Given the description of an element on the screen output the (x, y) to click on. 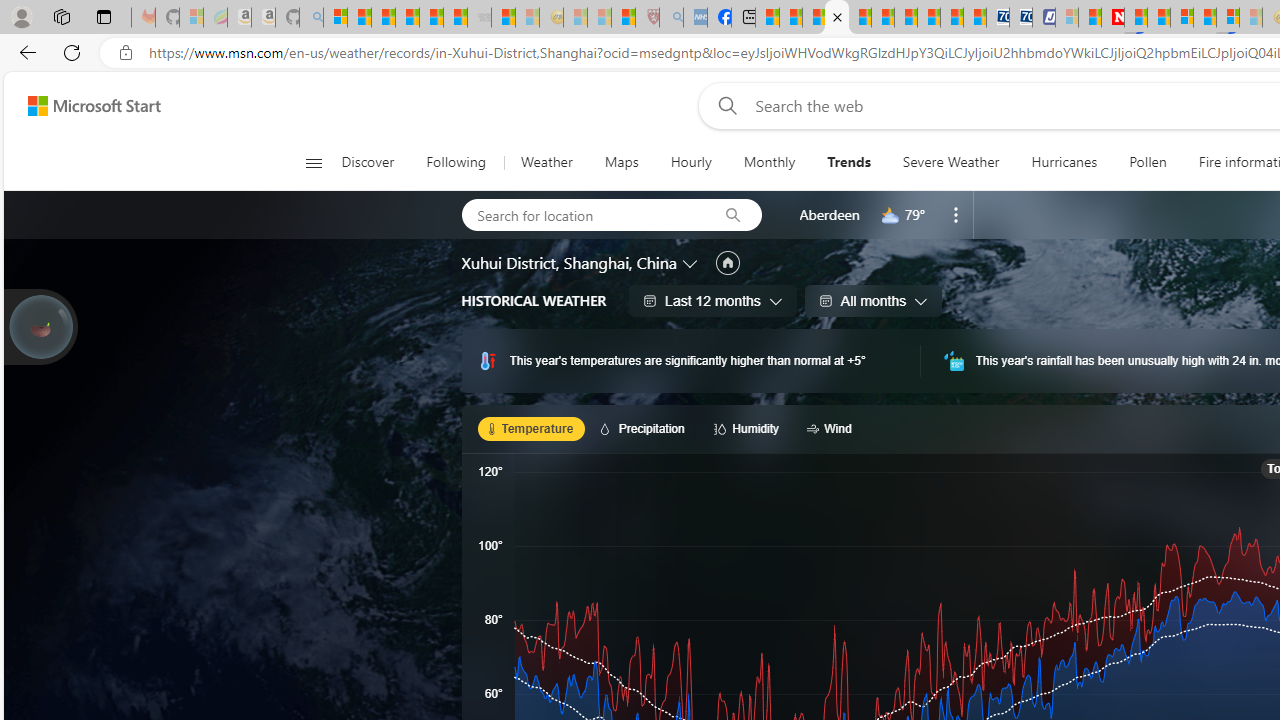
Temperature (531, 428)
Hurricanes (1064, 162)
All months (873, 300)
Monthly (769, 162)
Severe Weather (950, 162)
Hurricanes (1064, 162)
Remove location (956, 214)
